Given the description of an element on the screen output the (x, y) to click on. 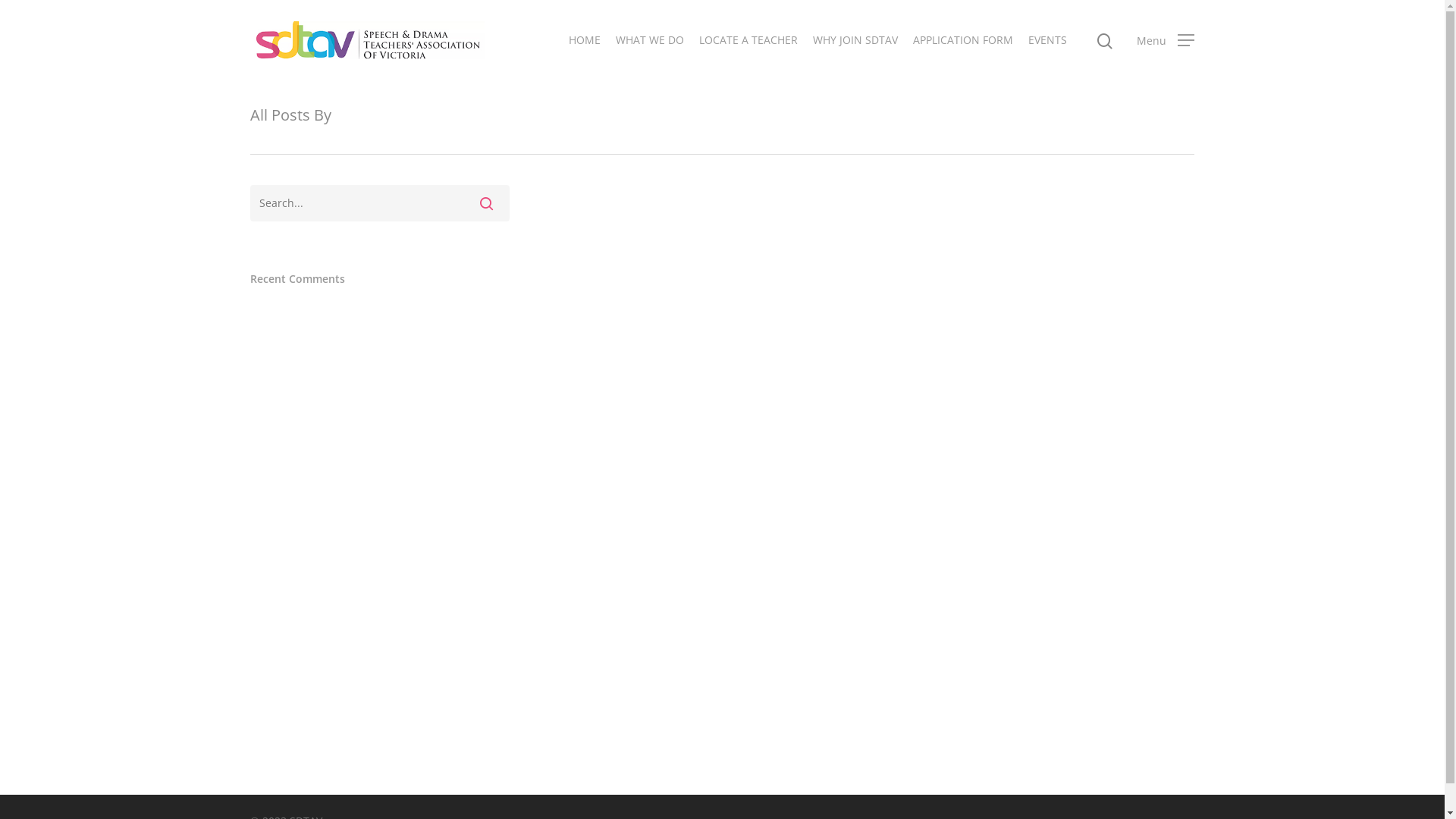
WHAT WE DO Element type: text (649, 39)
LOCATE A TEACHER Element type: text (748, 39)
HOME Element type: text (584, 39)
APPLICATION FORM Element type: text (963, 39)
Search for: Element type: hover (379, 203)
EVENTS Element type: text (1047, 39)
WHY JOIN SDTAV Element type: text (854, 39)
Menu Element type: text (1165, 39)
